Given the description of an element on the screen output the (x, y) to click on. 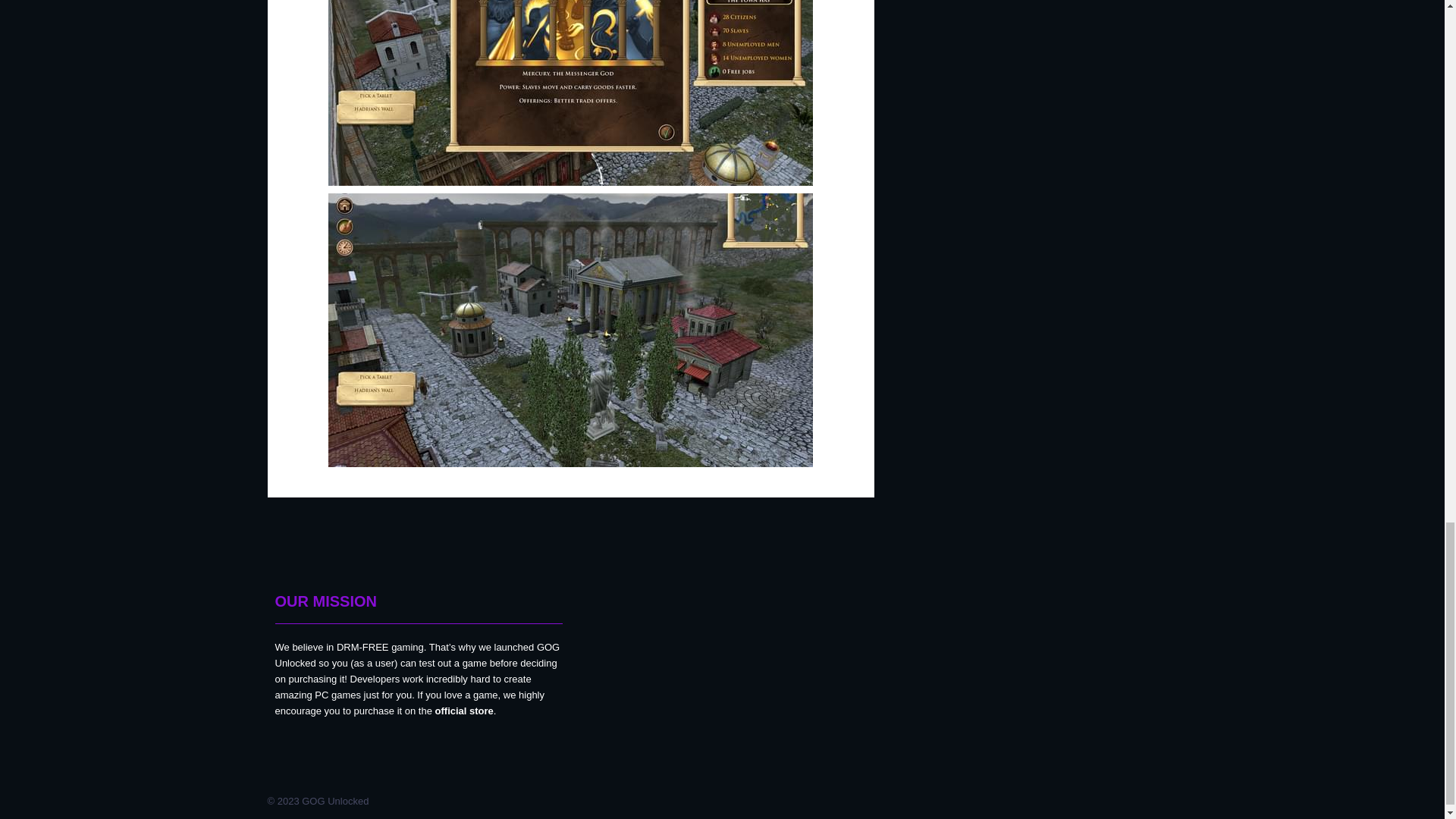
official store (464, 710)
